Given the description of an element on the screen output the (x, y) to click on. 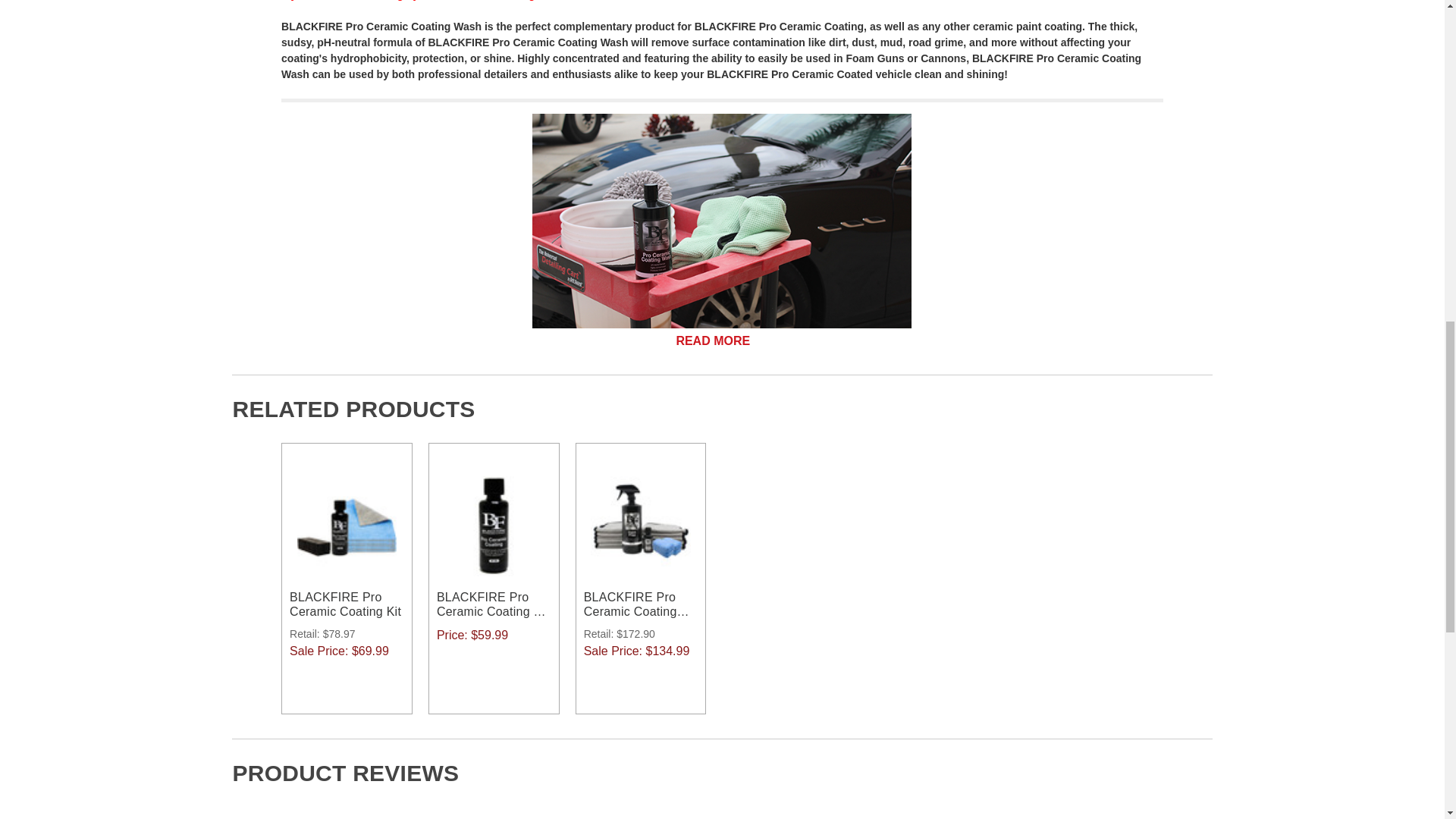
BLACKFIRE Car Care BLACKFIRE Pro Ceramic Coating (493, 525)
BLACKFIRE Car Care BLACKFIRE Pro Ceramic Coating Kit (346, 525)
